Given the description of an element on the screen output the (x, y) to click on. 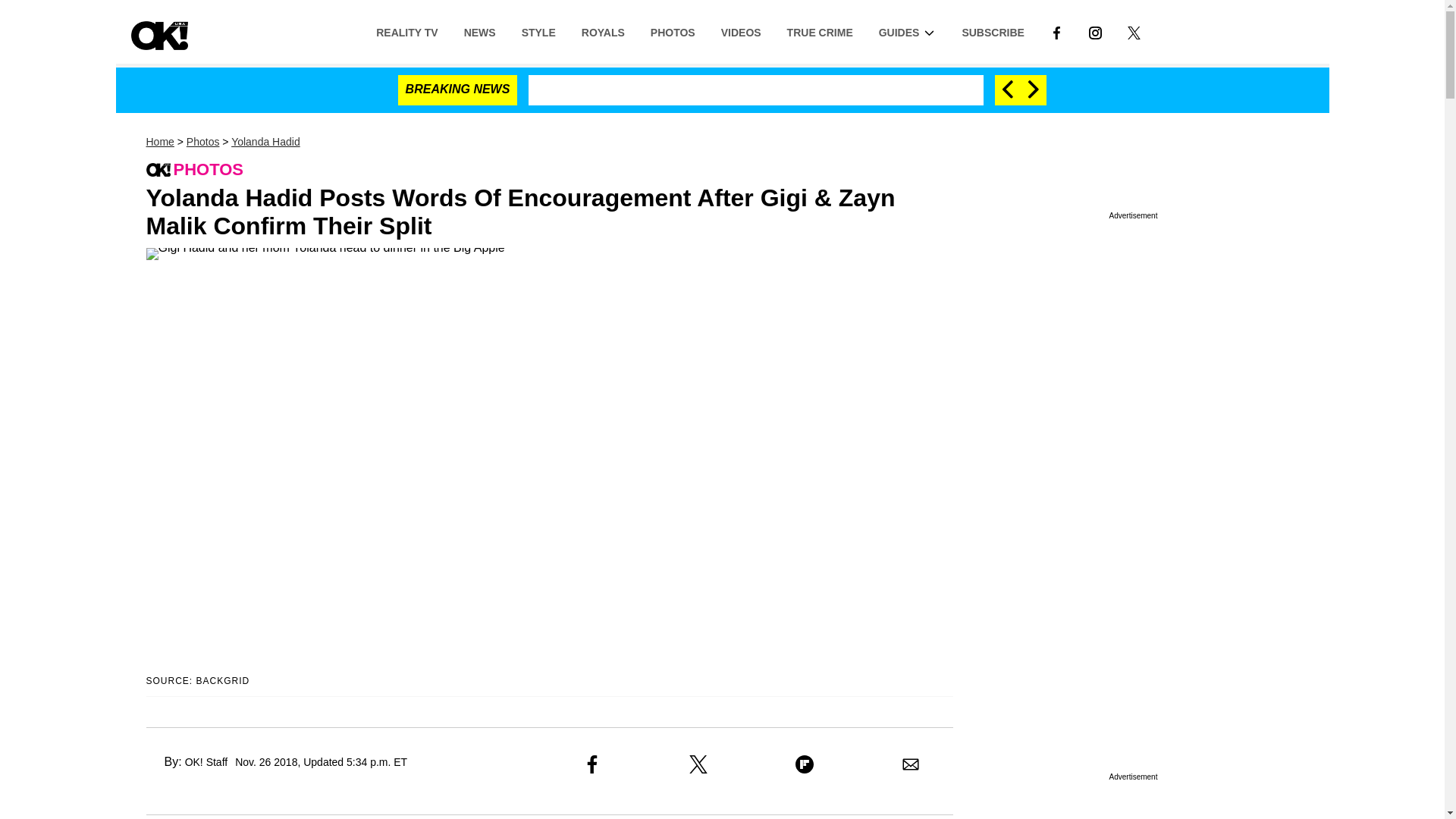
LINK TO FACEBOOK (1055, 32)
Home (159, 141)
ROYALS (603, 31)
LINK TO INSTAGRAM (1095, 32)
LINK TO X (1134, 31)
Share to Email (909, 764)
Yolanda Hadid (265, 141)
Link to X (1134, 31)
Link to Instagram (1095, 31)
Photos (202, 141)
LINK TO FACEBOOK (1055, 31)
OK! Staff (206, 761)
STYLE (538, 31)
Share to Facebook (590, 764)
NEWS (479, 31)
